Given the description of an element on the screen output the (x, y) to click on. 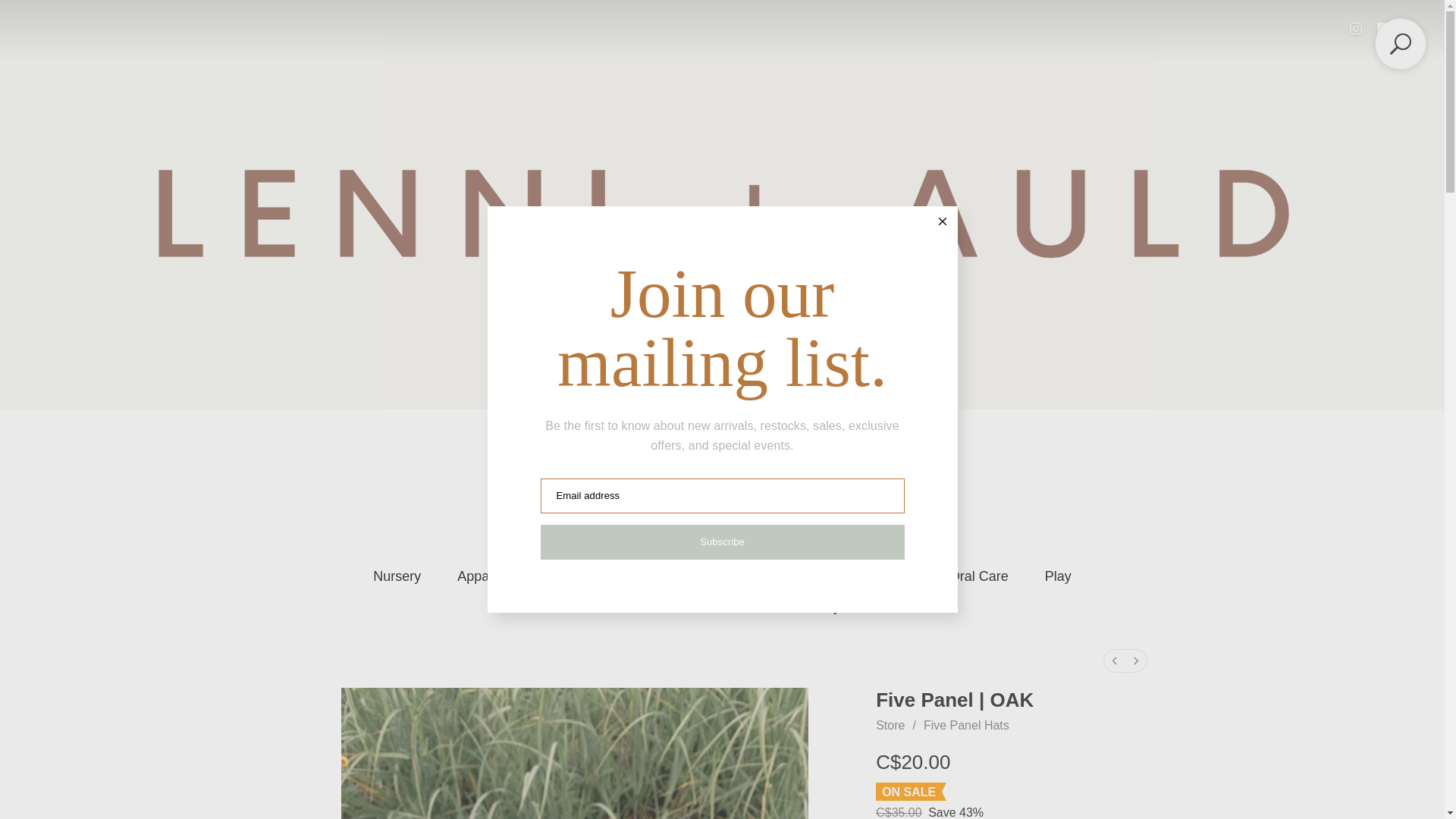
Play (1058, 576)
Meal Time (608, 606)
Shop Now (721, 476)
Accessories (740, 576)
Five Panel Hats (725, 606)
Apparel (480, 576)
Baby Box (838, 606)
Nursery (396, 576)
